Given the description of an element on the screen output the (x, y) to click on. 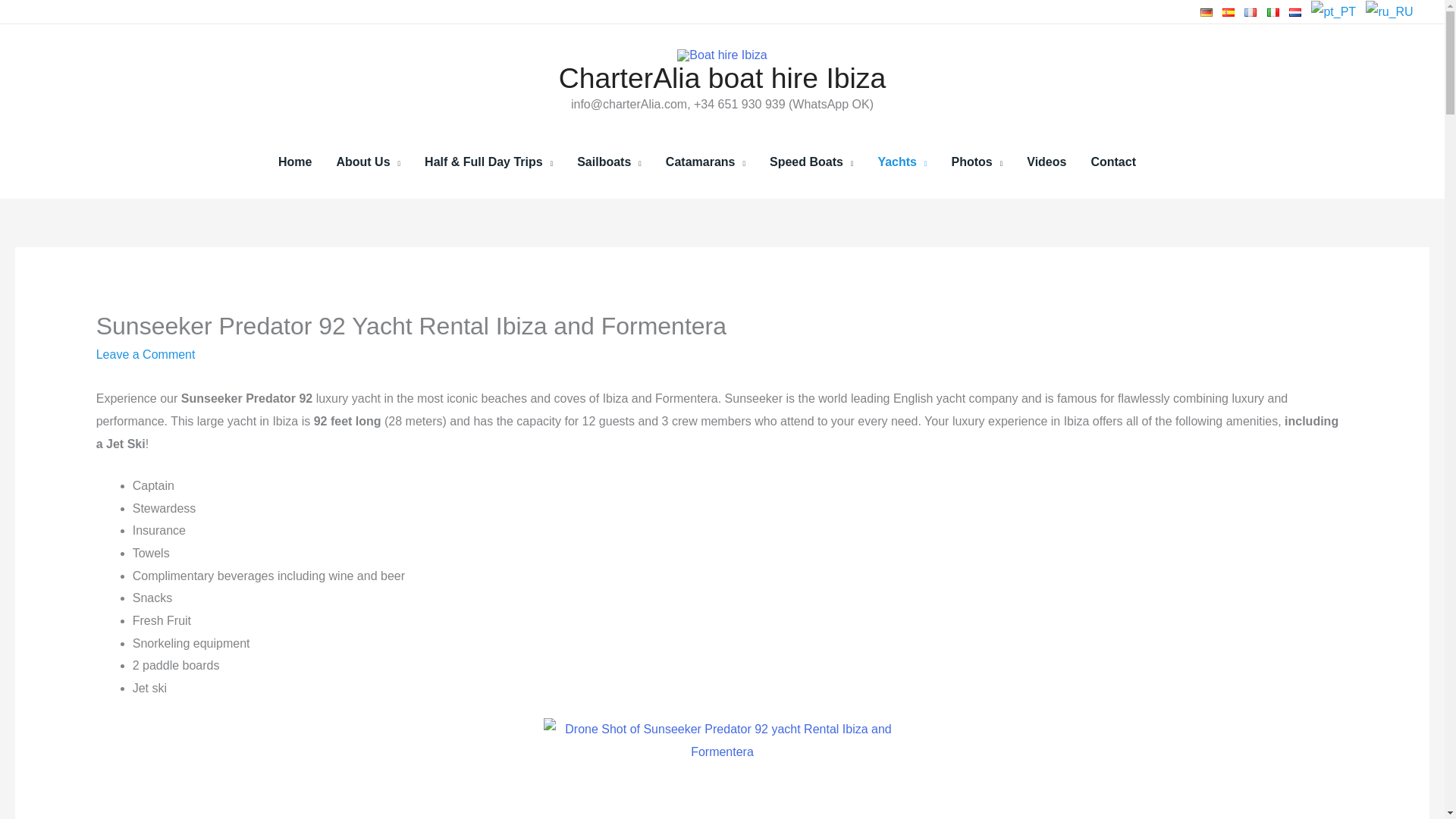
About Us (367, 162)
Italiano (1272, 10)
Nederlands (1294, 10)
Russian (1388, 10)
Deutsch (1205, 10)
CharterAlia boat hire Ibiza (722, 78)
Main page for boat hire in Ibiza (294, 162)
Home (294, 162)
